Given the description of an element on the screen output the (x, y) to click on. 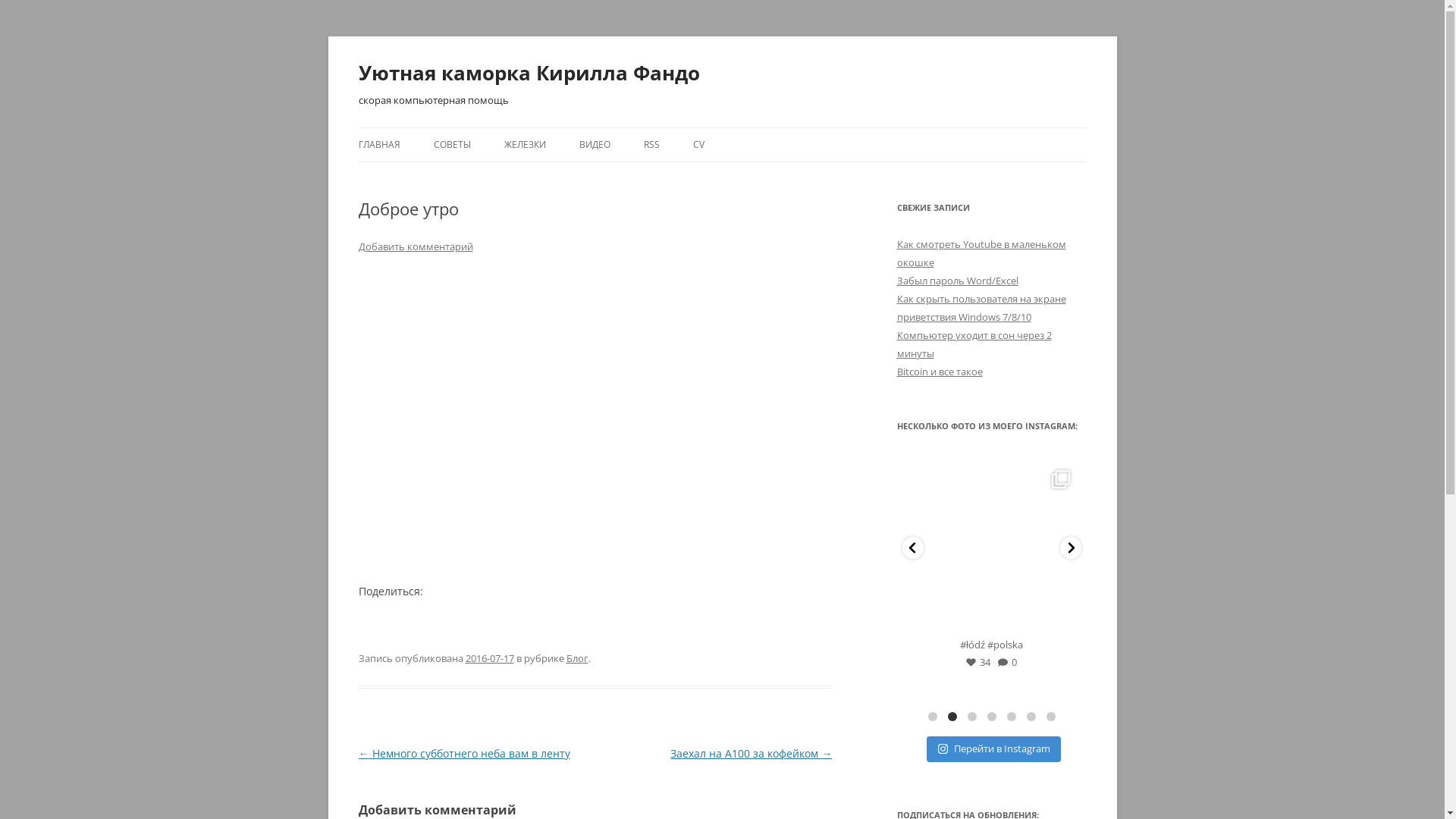
CV Element type: text (698, 144)
RSS Element type: text (650, 144)
2016-07-17 Element type: text (489, 658)
